Given the description of an element on the screen output the (x, y) to click on. 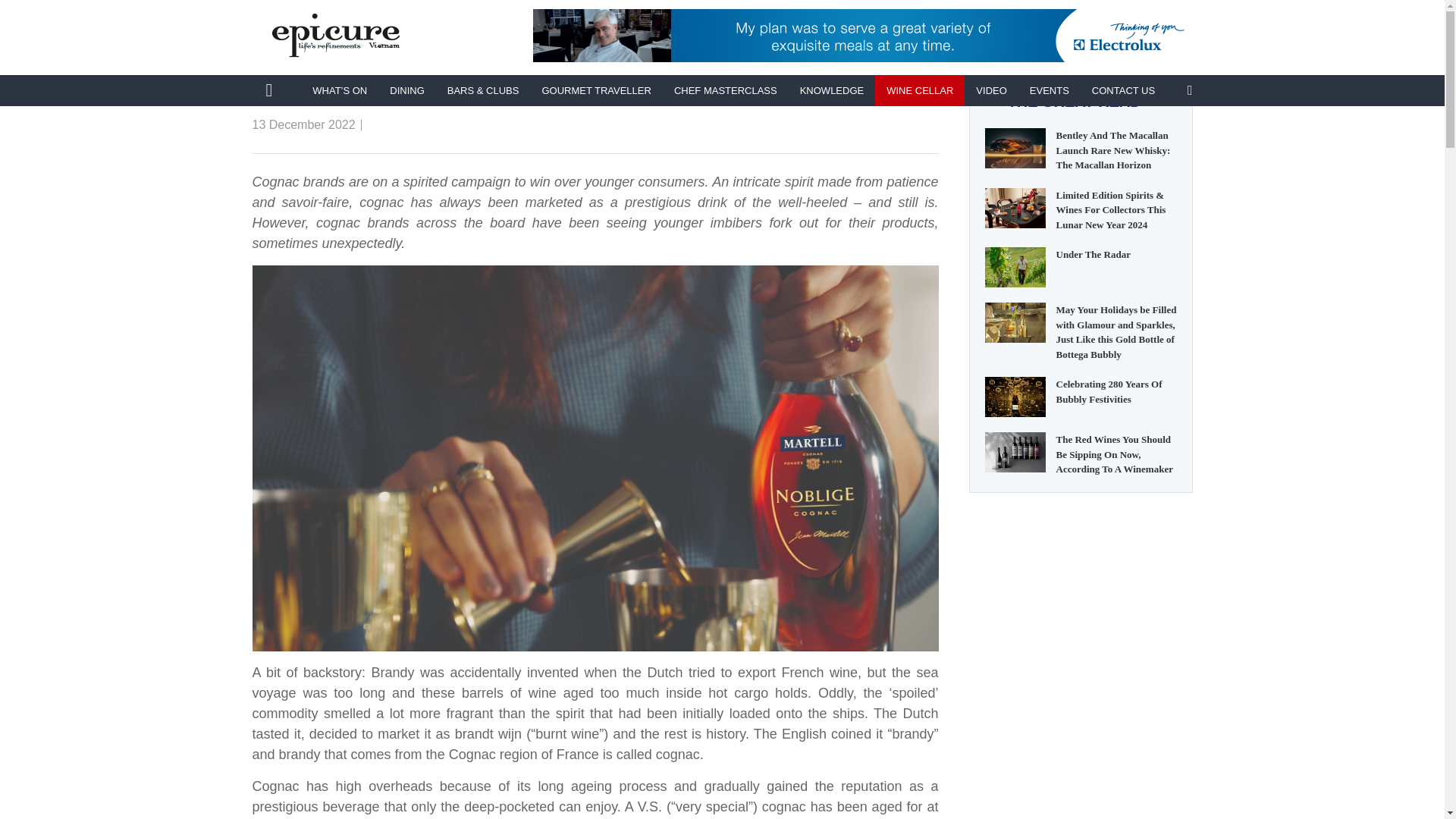
VIDEO (990, 90)
WINE CELLAR (310, 17)
Gourmet Traveller (595, 90)
GOURMET TRAVELLER (595, 90)
SOMMELIER RECOMMENDED (446, 17)
EPICURE VIETNAM (268, 90)
CHEF MASTERCLASS (725, 90)
Dining (406, 90)
KNOWLEDGE (832, 90)
WINE CELLAR (919, 90)
Epicure Vietnam (268, 90)
Chef Masterclass (725, 90)
DINING (406, 90)
EVENTS (1048, 90)
CONTACT US (1123, 90)
